Given the description of an element on the screen output the (x, y) to click on. 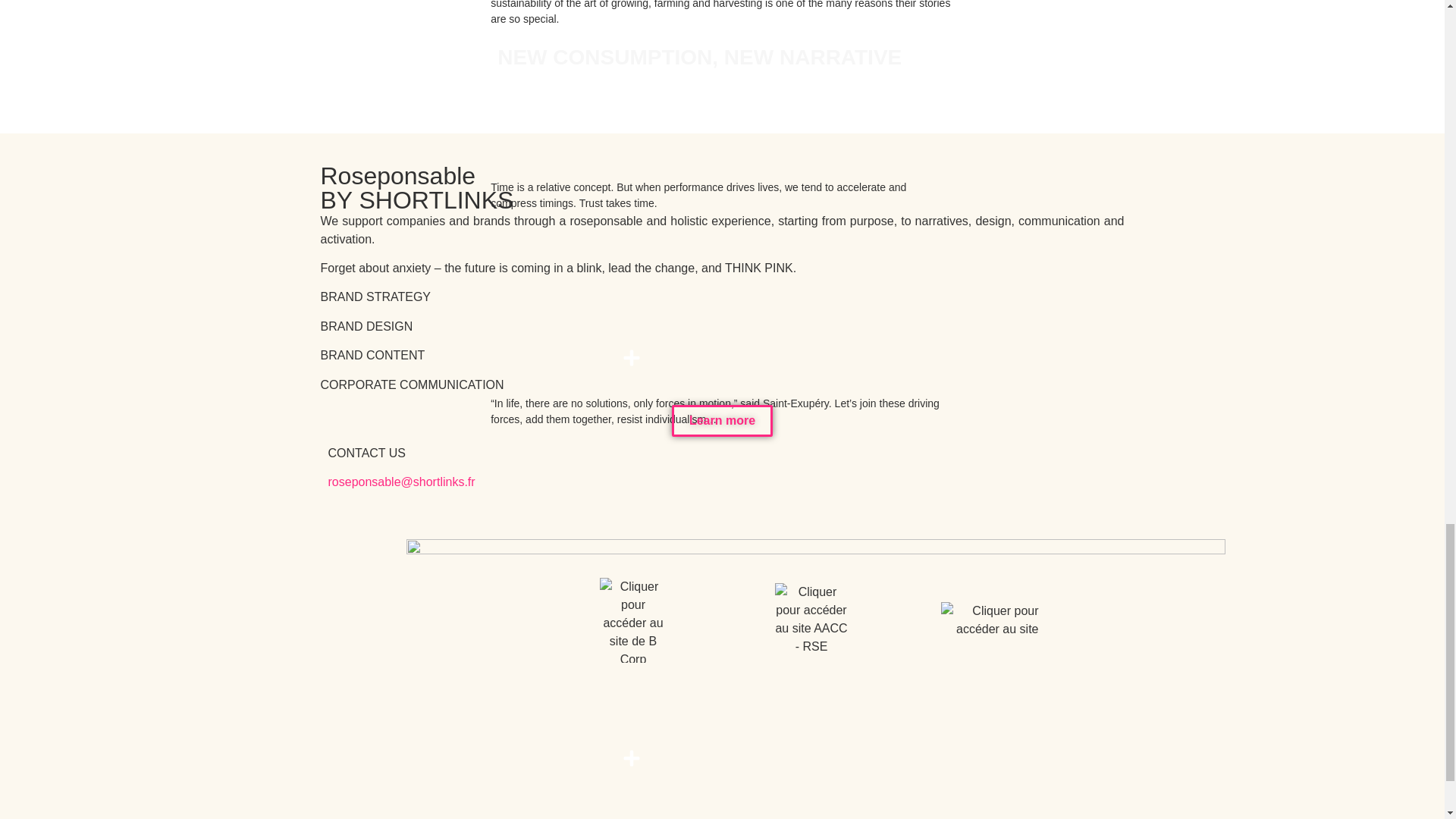
NEW CONSUMPTION, NEW NARRATIVE (699, 56)
Learn more (722, 420)
New consumption, new narrative (699, 56)
